Given the description of an element on the screen output the (x, y) to click on. 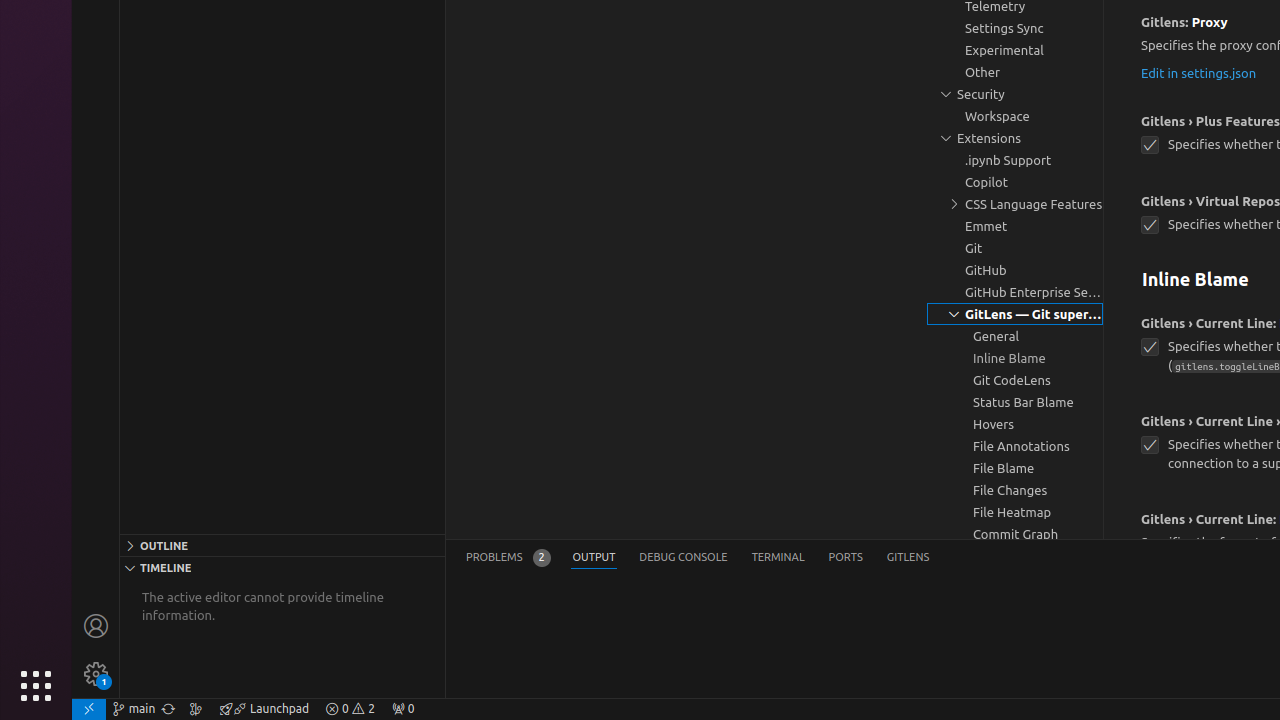
Terminal (Ctrl+`) Element type: page-tab (778, 557)
No Ports Forwarded Element type: push-button (403, 709)
Inline Blame, group Element type: tree-item (1015, 357)
OSWorld (Git) - Synchronize Changes Element type: push-button (168, 709)
Outline Section Element type: push-button (282, 545)
